Given the description of an element on the screen output the (x, y) to click on. 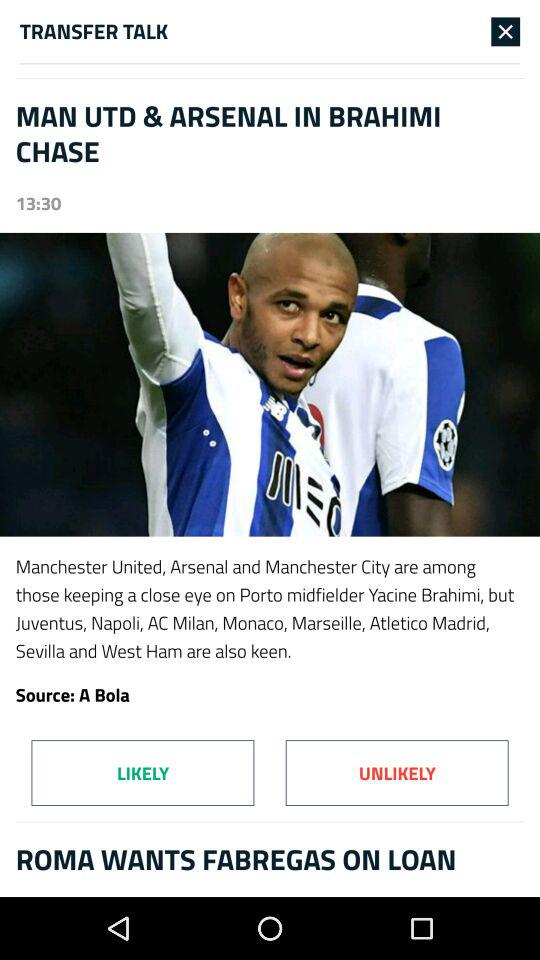
choose the item to the right of the likely item (396, 772)
